Given the description of an element on the screen output the (x, y) to click on. 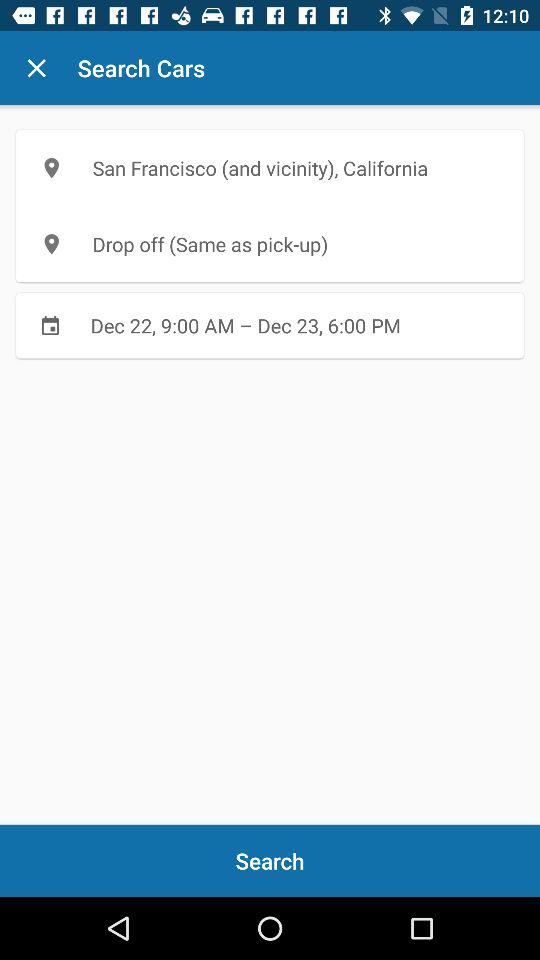
click san francisco and icon (269, 168)
